Given the description of an element on the screen output the (x, y) to click on. 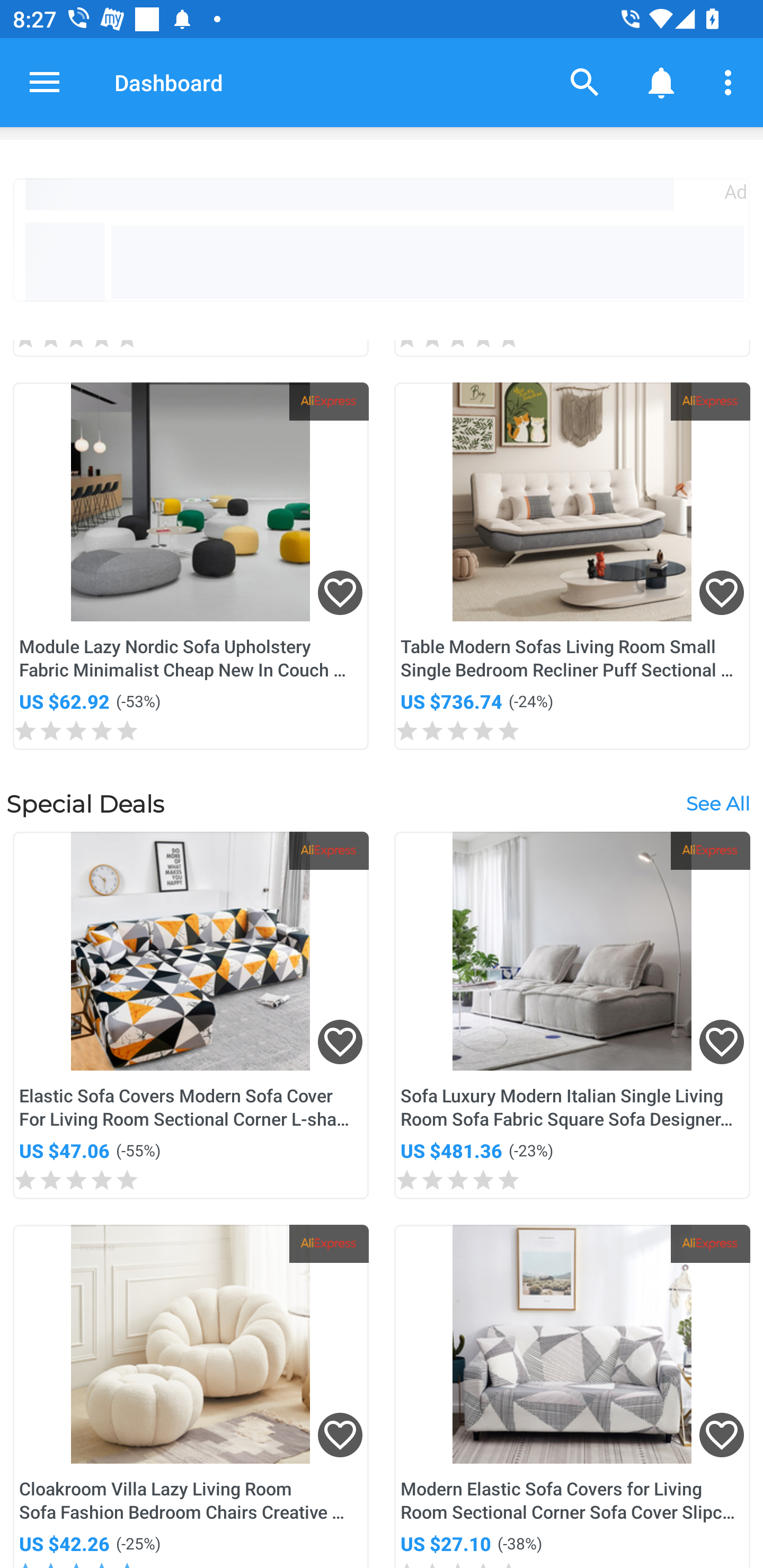
Open navigation drawer (44, 82)
Search (585, 81)
More options (731, 81)
See All (717, 802)
